Given the description of an element on the screen output the (x, y) to click on. 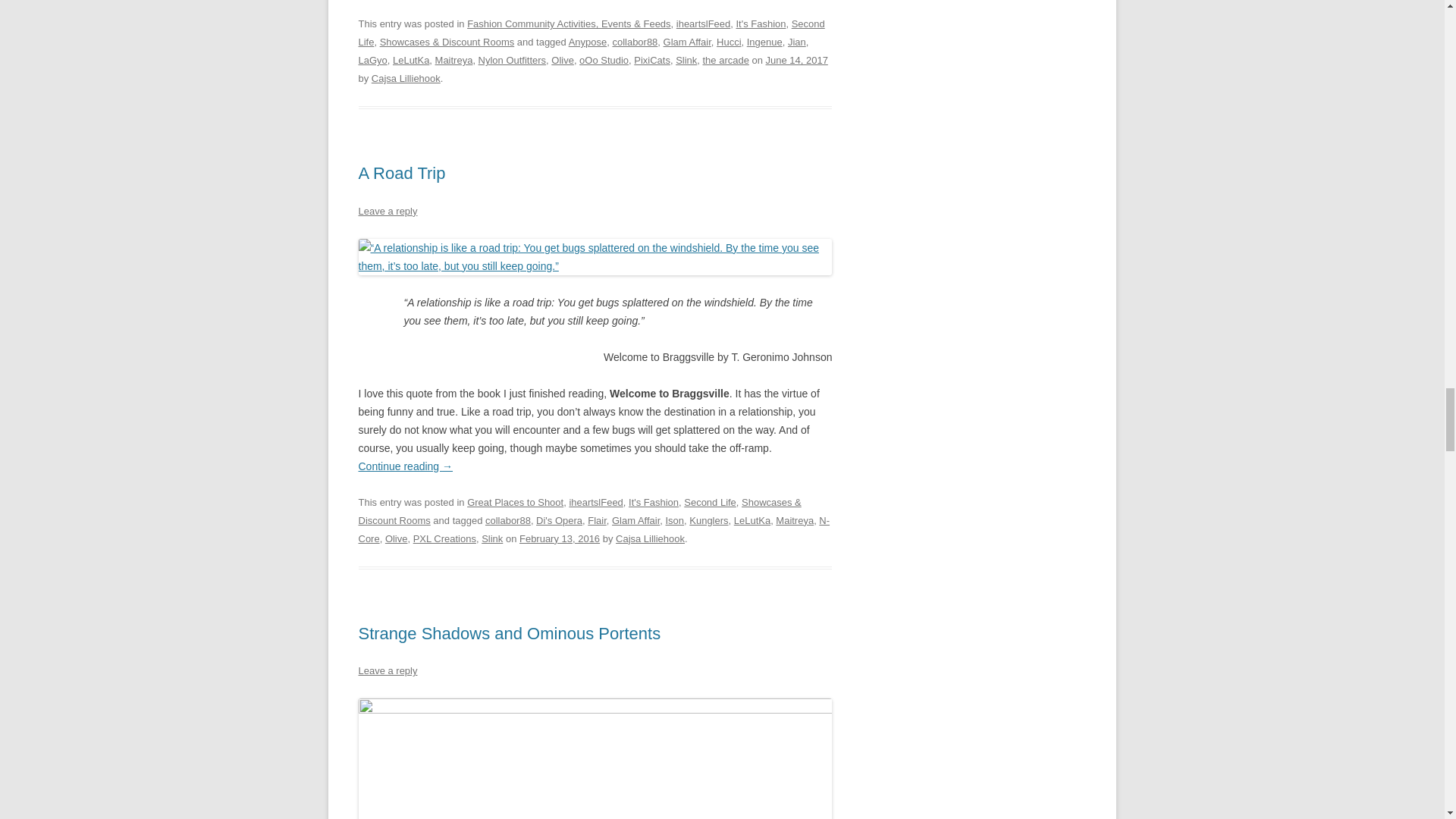
9:59 pm (796, 60)
View all posts by Cajsa Lilliehook (406, 78)
2:42 pm (559, 538)
View all posts by Cajsa Lilliehook (649, 538)
